Given the description of an element on the screen output the (x, y) to click on. 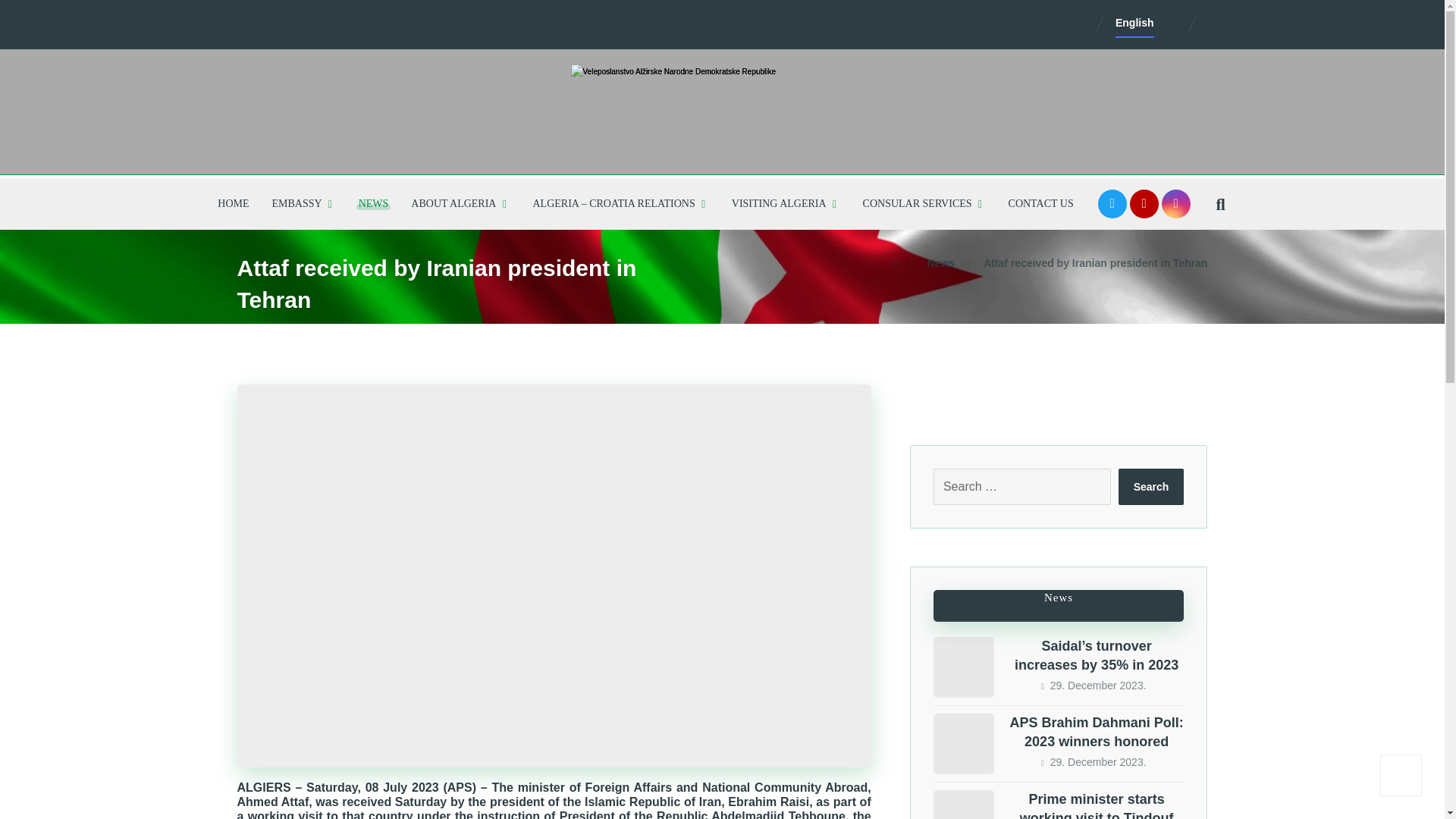
CONTACT US (1040, 204)
VISITING ALGERIA (786, 204)
Prime minister starts working visit to Tindouf (1096, 805)
CONSULAR SERVICES (924, 204)
ABOUT ALGERIA (460, 204)
English (1134, 22)
APS Brahim Dahmani Poll: 2023 winners honored (963, 743)
EMBASSY (303, 204)
Prime minister starts working visit to Tindouf (963, 804)
APS Brahim Dahmani Poll: 2023 winners honored (1096, 731)
